Given the description of an element on the screen output the (x, y) to click on. 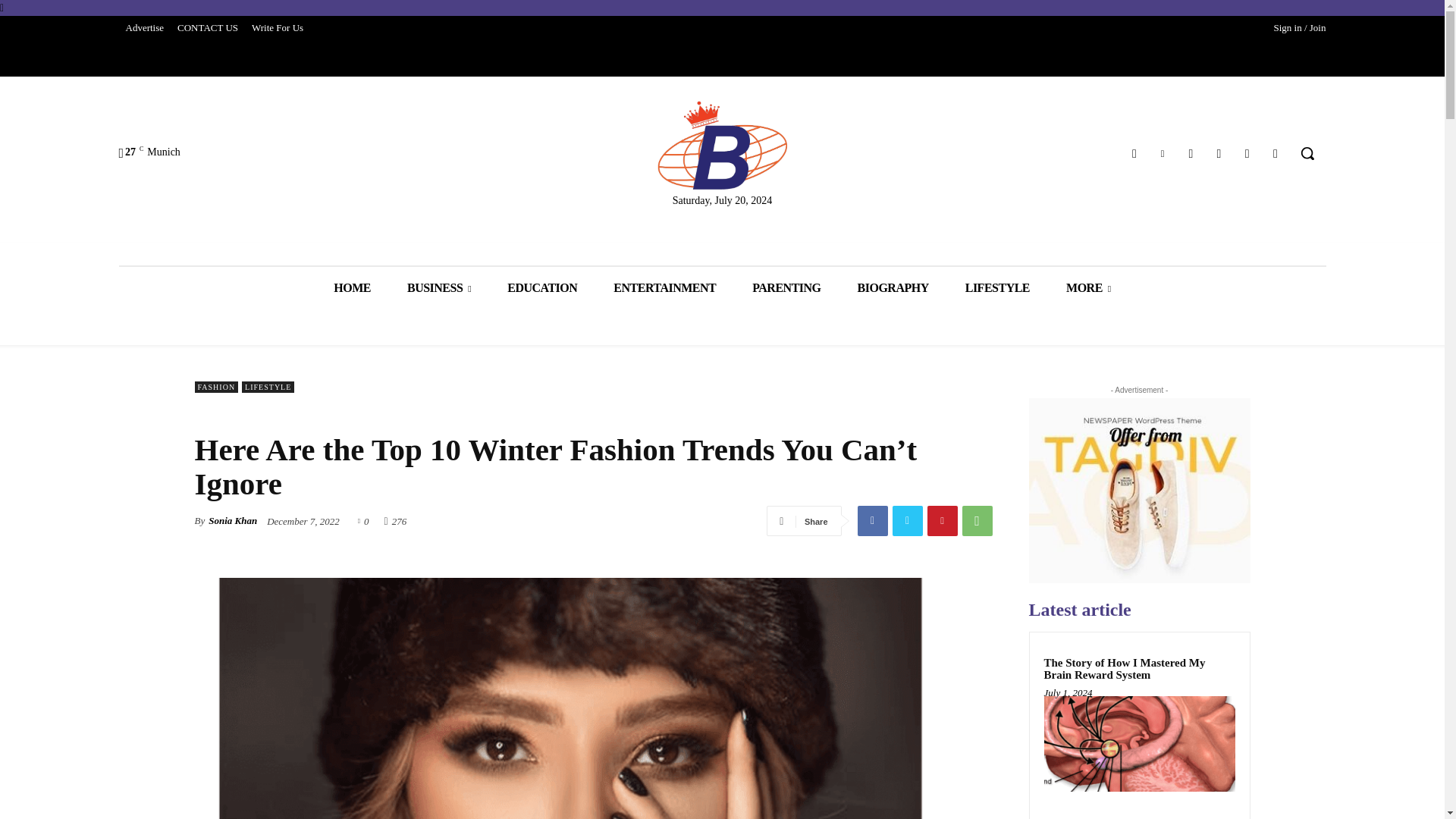
Flipboard (1134, 153)
CONTACT US (207, 27)
Medium (1218, 153)
Advertise (143, 27)
Youtube (1275, 153)
Write For Us (277, 27)
Website (1246, 153)
Mail (1190, 153)
Linkedin (1163, 153)
